Given the description of an element on the screen output the (x, y) to click on. 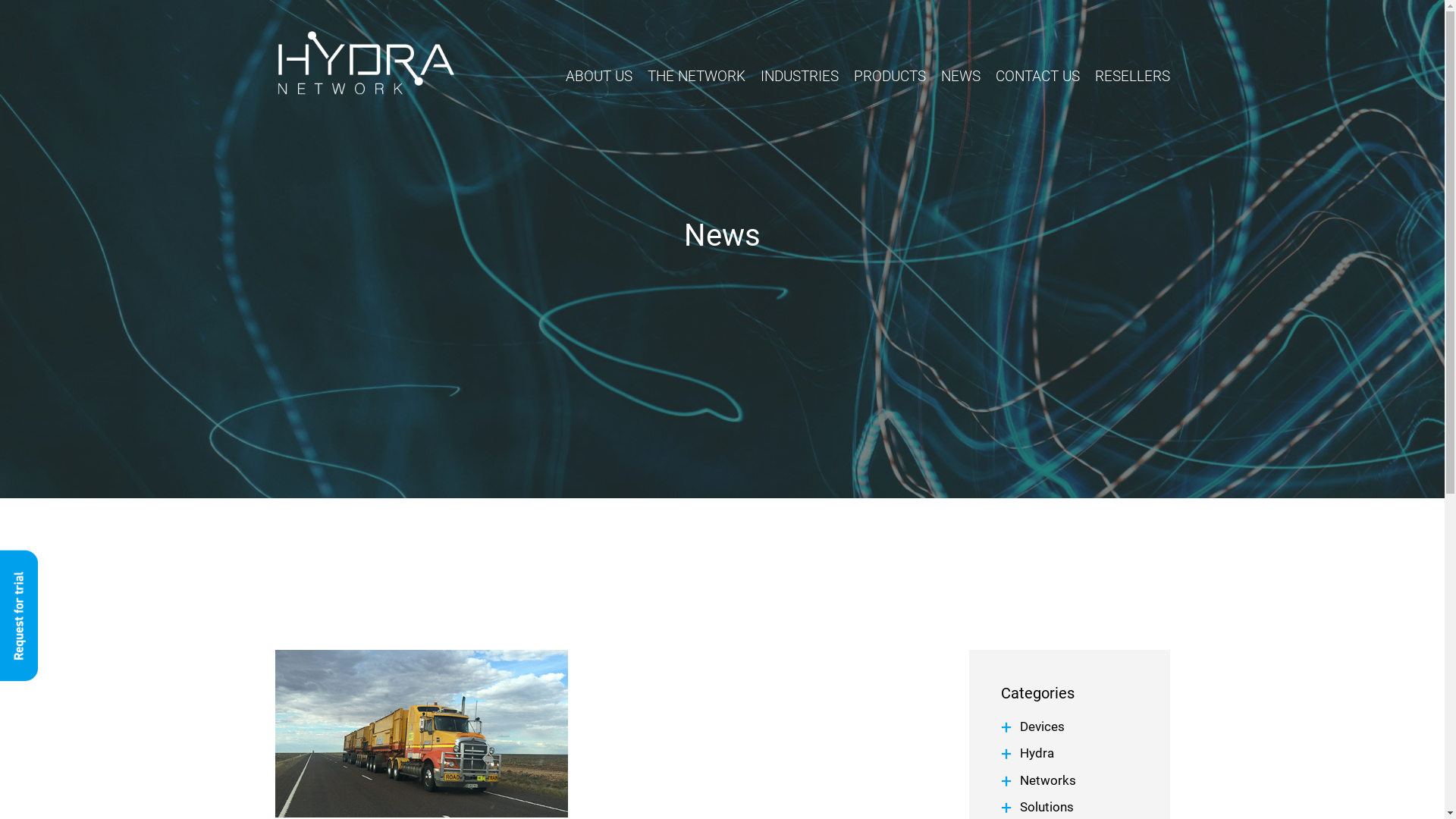
THE NETWORK Element type: text (696, 79)
Networks Element type: text (1047, 779)
CONTACT US Element type: text (1036, 79)
Devices Element type: text (1041, 726)
How the Hydra Network benefits customers across any industry Element type: hover (420, 733)
NEWS Element type: text (959, 79)
RESELLERS Element type: text (1132, 79)
Hydra Element type: text (1036, 752)
ABOUT US Element type: text (598, 79)
PRODUCTS Element type: text (889, 79)
Solutions Element type: text (1046, 806)
INDUSTRIES Element type: text (798, 79)
